Given the description of an element on the screen output the (x, y) to click on. 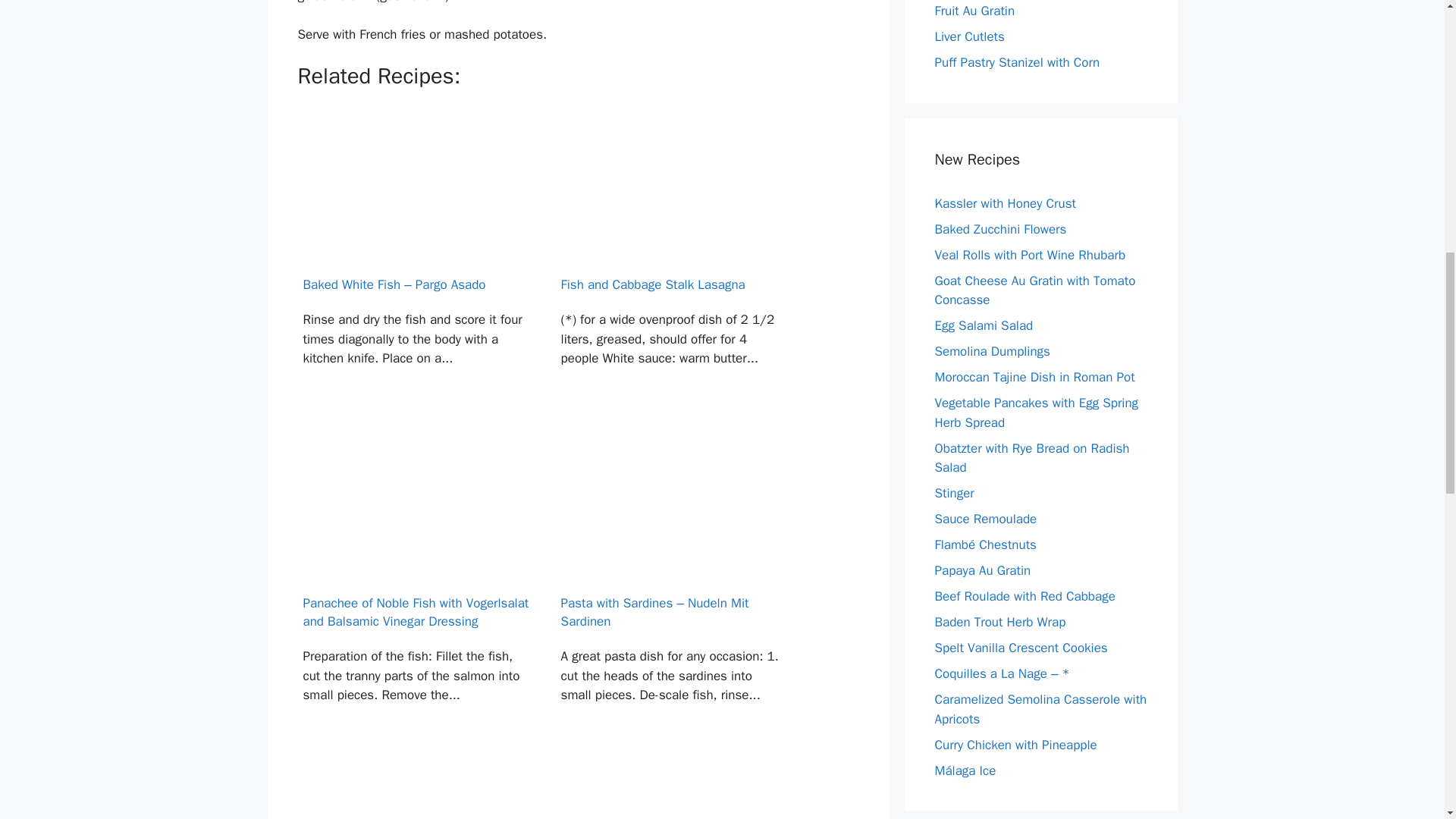
Puff Pastry Stanizel with Corn (1016, 62)
Kassler with Honey Crust (1004, 203)
Grilled Kingfish with Paprika Chili Sauce (673, 782)
Liver Cutlets (969, 36)
Fruit Au Gratin (974, 10)
